Given the description of an element on the screen output the (x, y) to click on. 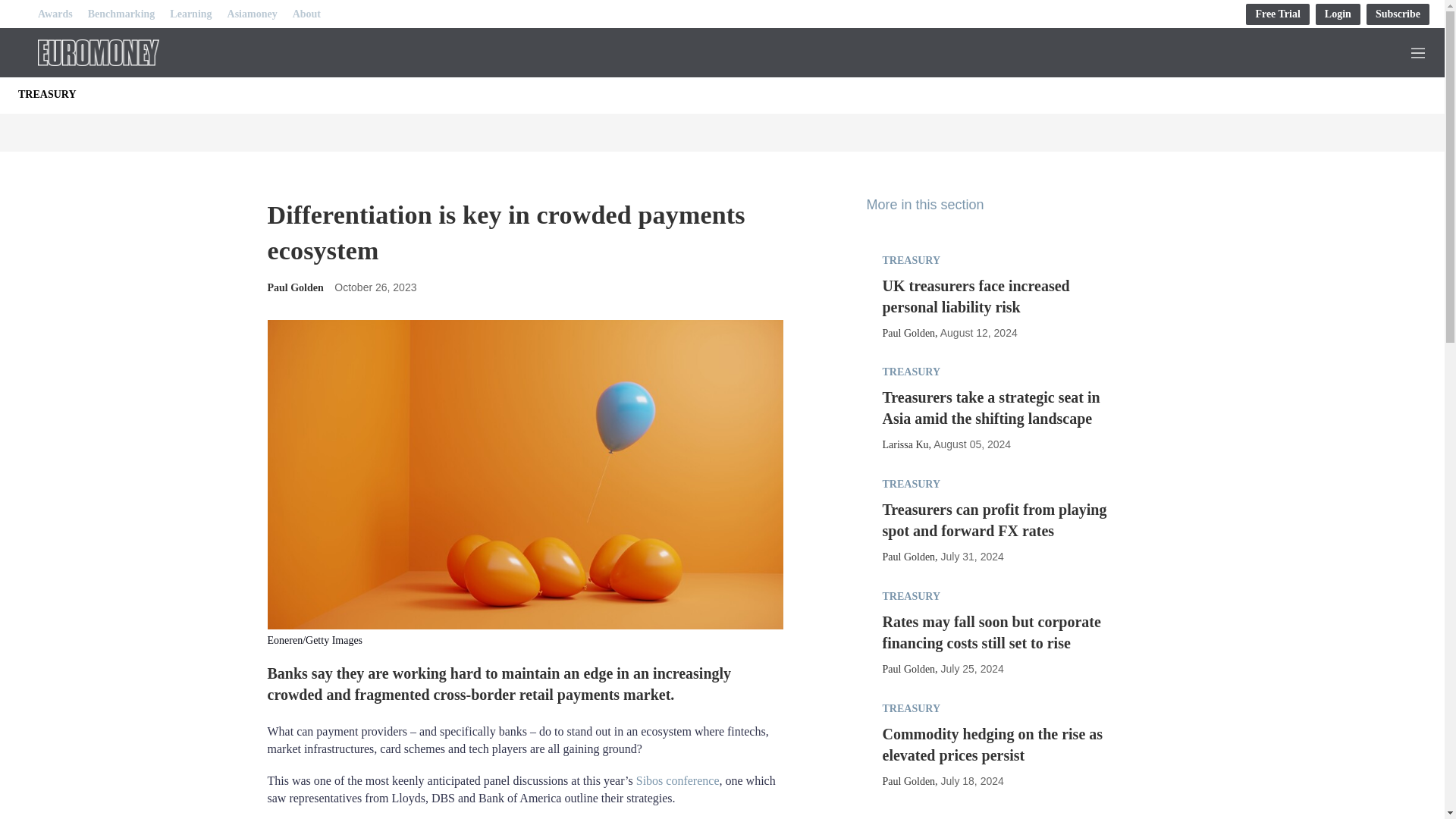
Free Trial (1277, 13)
About (306, 13)
Asiamoney (252, 13)
Login (1337, 13)
Subscribe (1398, 13)
Awards (54, 13)
Learning (190, 13)
Benchmarking (121, 13)
